Given the description of an element on the screen output the (x, y) to click on. 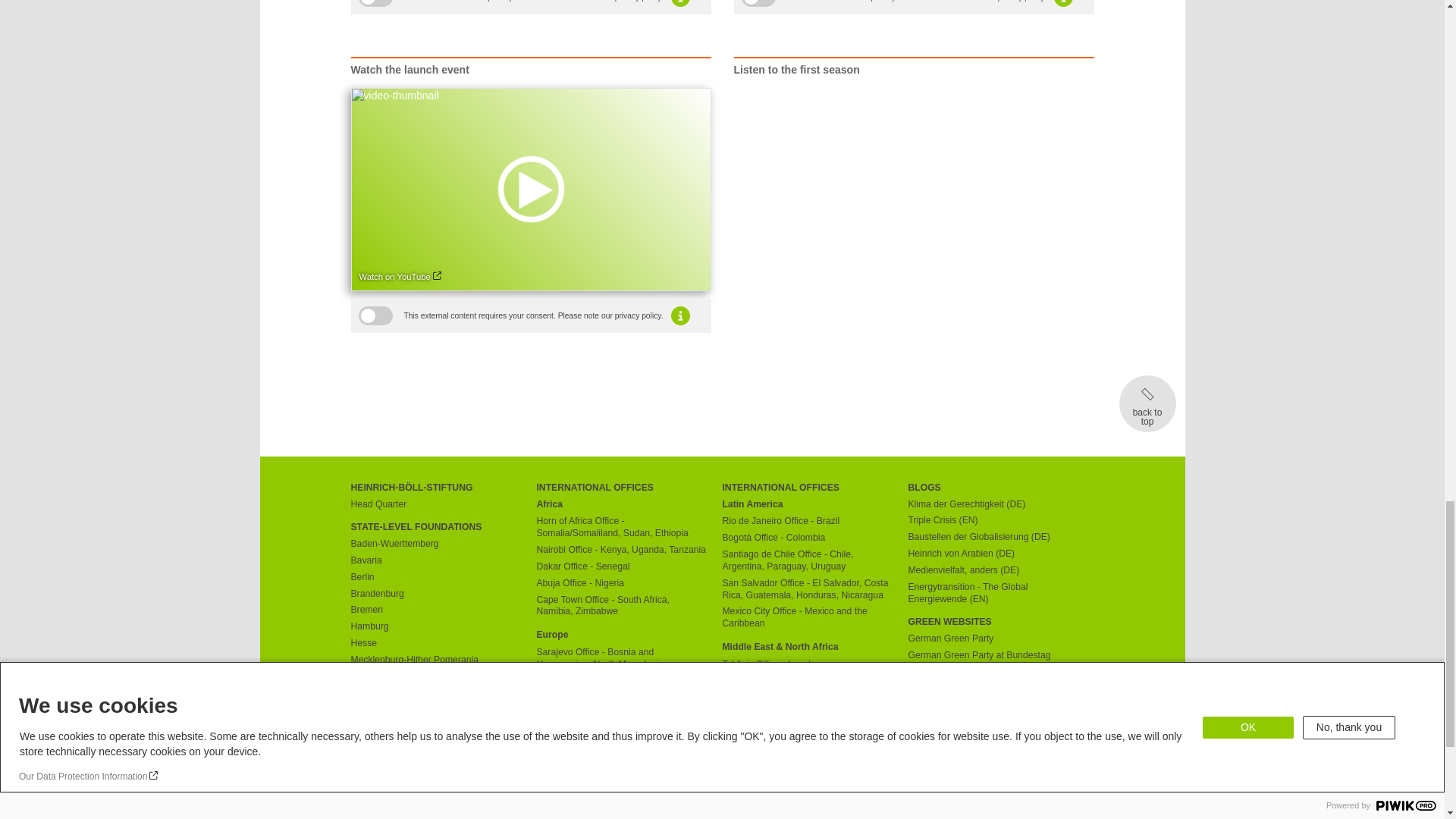
Watch on YouTube (400, 276)
